Given the description of an element on the screen output the (x, y) to click on. 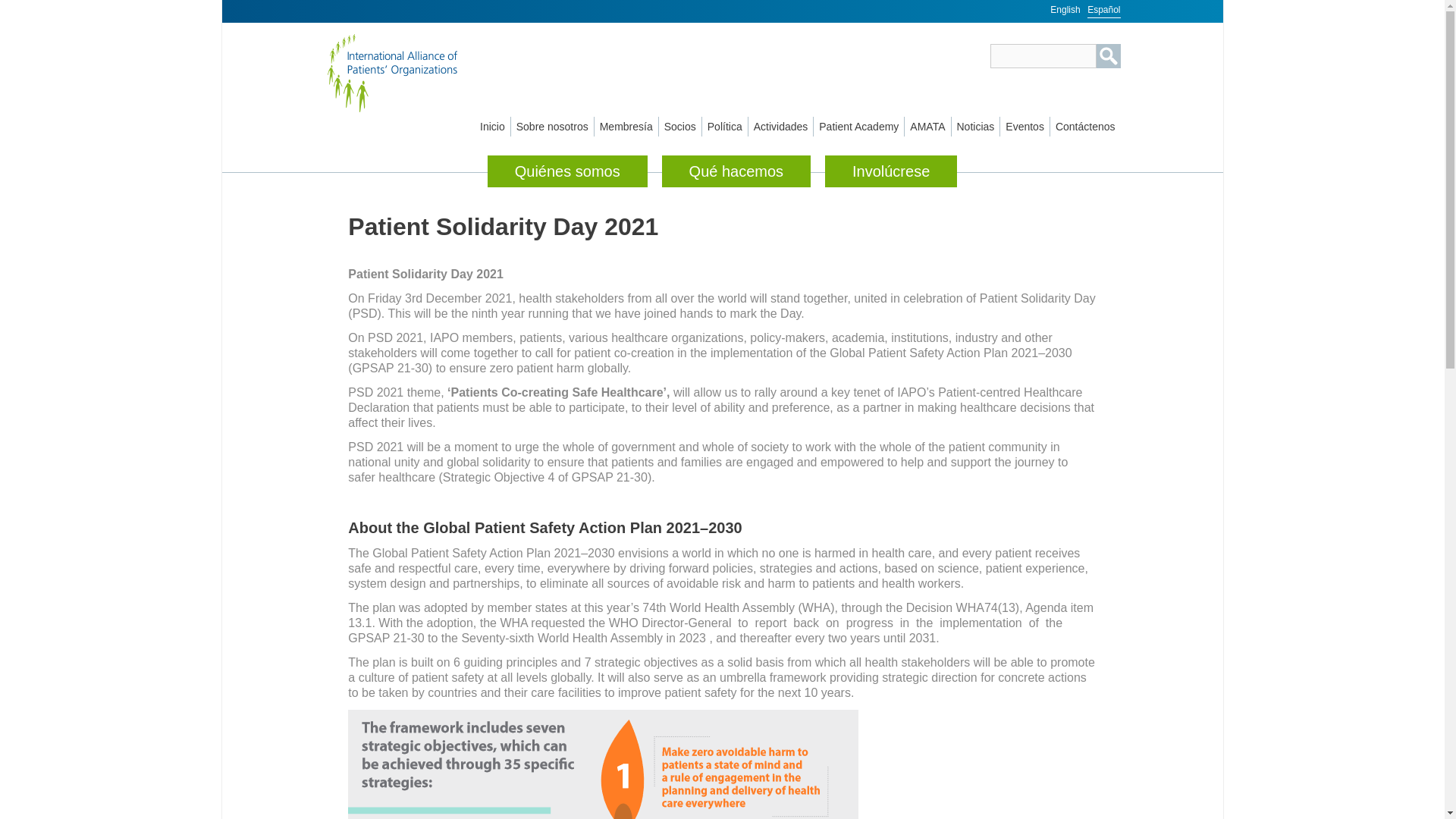
Actividades (780, 126)
English (1064, 8)
Sobre nosotros (552, 126)
Socios (680, 126)
Find out about IAPO membership (626, 126)
Inicio (408, 73)
Inicio (492, 126)
Sobre nosotros (552, 126)
Enter the terms you wish to search for. (1043, 55)
